Given the description of an element on the screen output the (x, y) to click on. 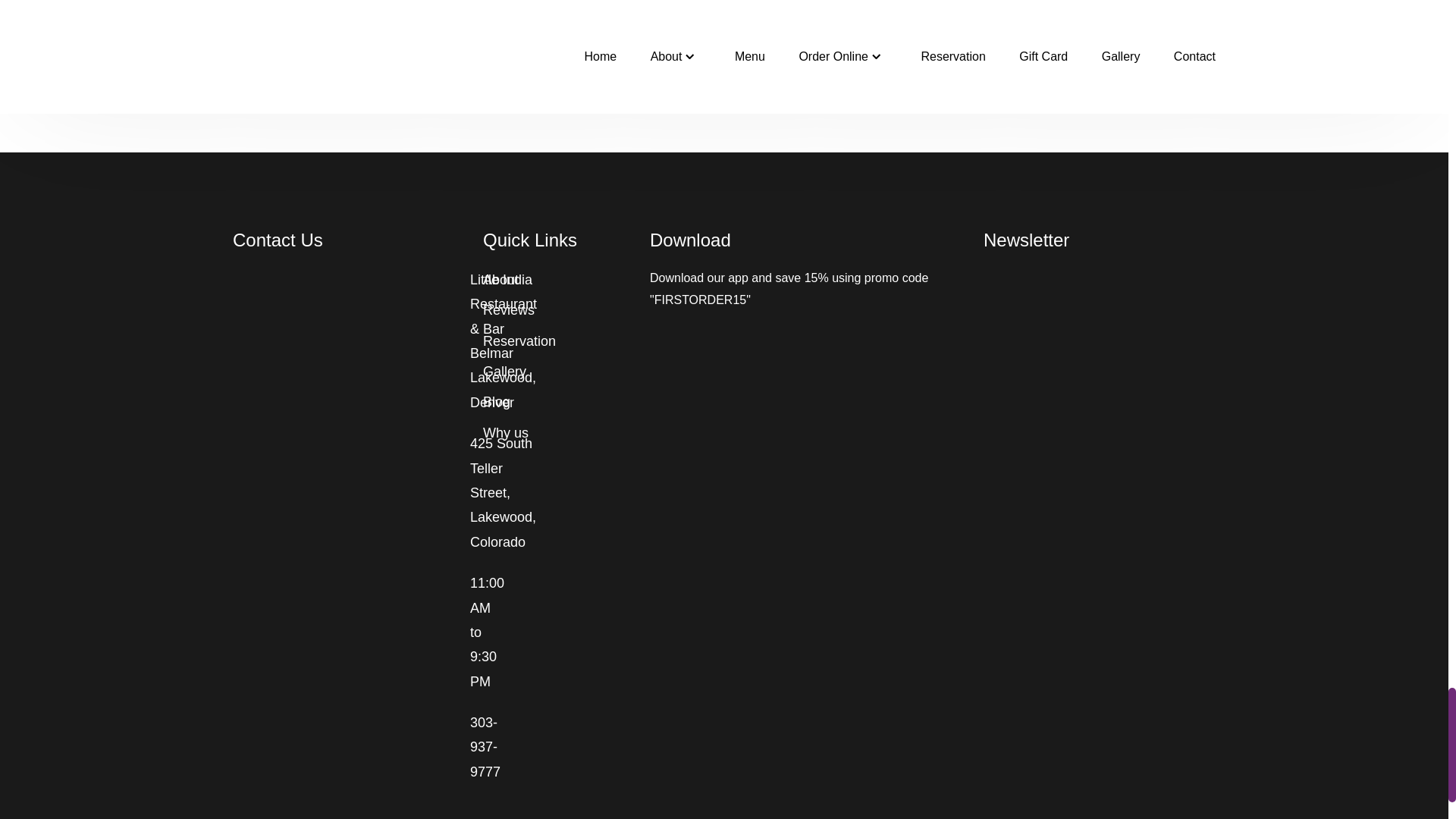
Reviews (508, 309)
Blog (497, 401)
Why us (505, 432)
Reservation (519, 340)
About (500, 279)
Gallery (504, 371)
